Given the description of an element on the screen output the (x, y) to click on. 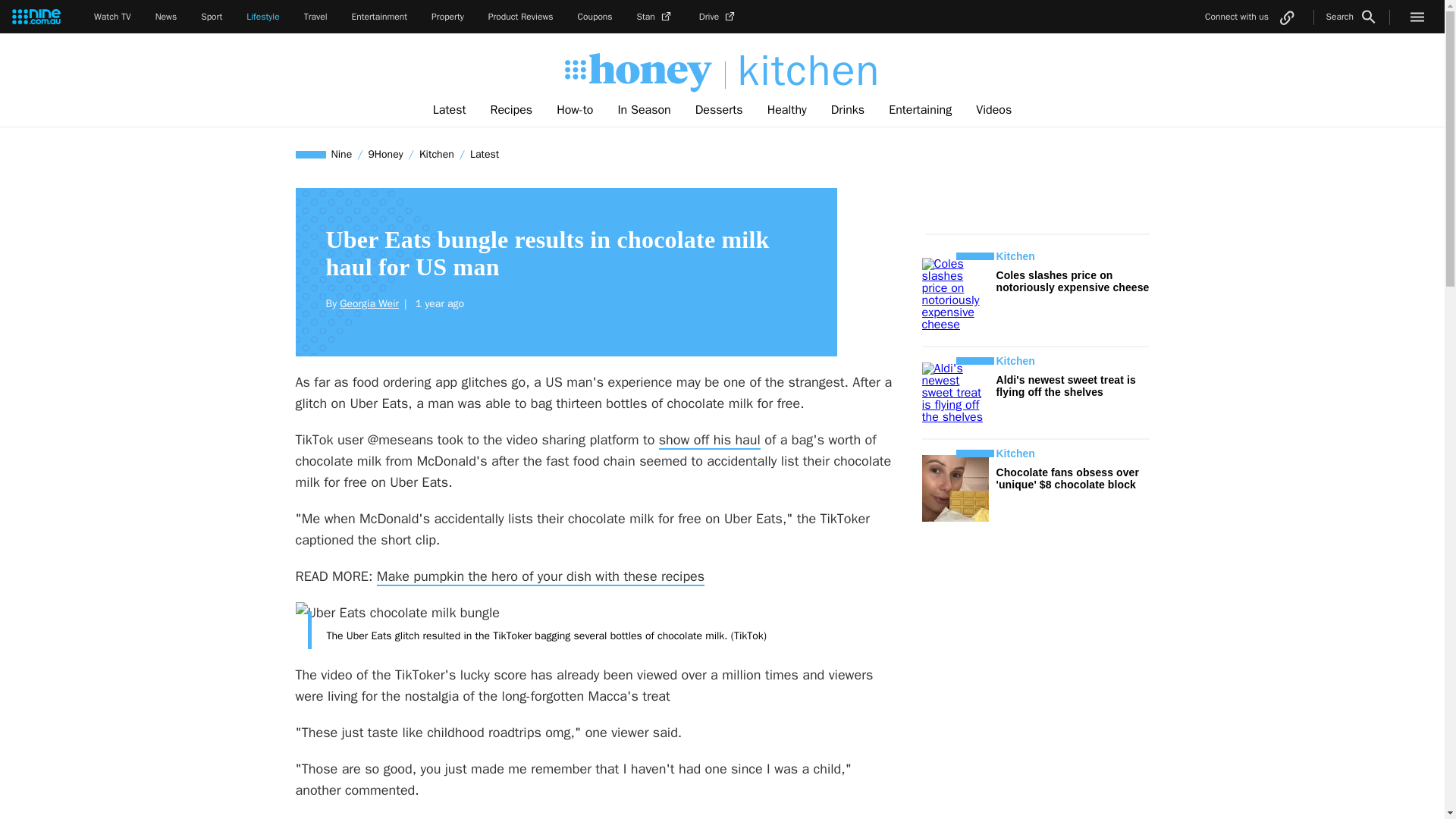
9Honey (384, 154)
show off his haul (709, 440)
Recipes (511, 109)
show off his haul (709, 440)
Georgia Weir (368, 303)
Desserts (718, 109)
Property (447, 16)
Drinks (847, 109)
Drive (718, 16)
Entertainment (379, 16)
Entertaining (919, 109)
How-to (574, 109)
Coupons (595, 16)
